Given the description of an element on the screen output the (x, y) to click on. 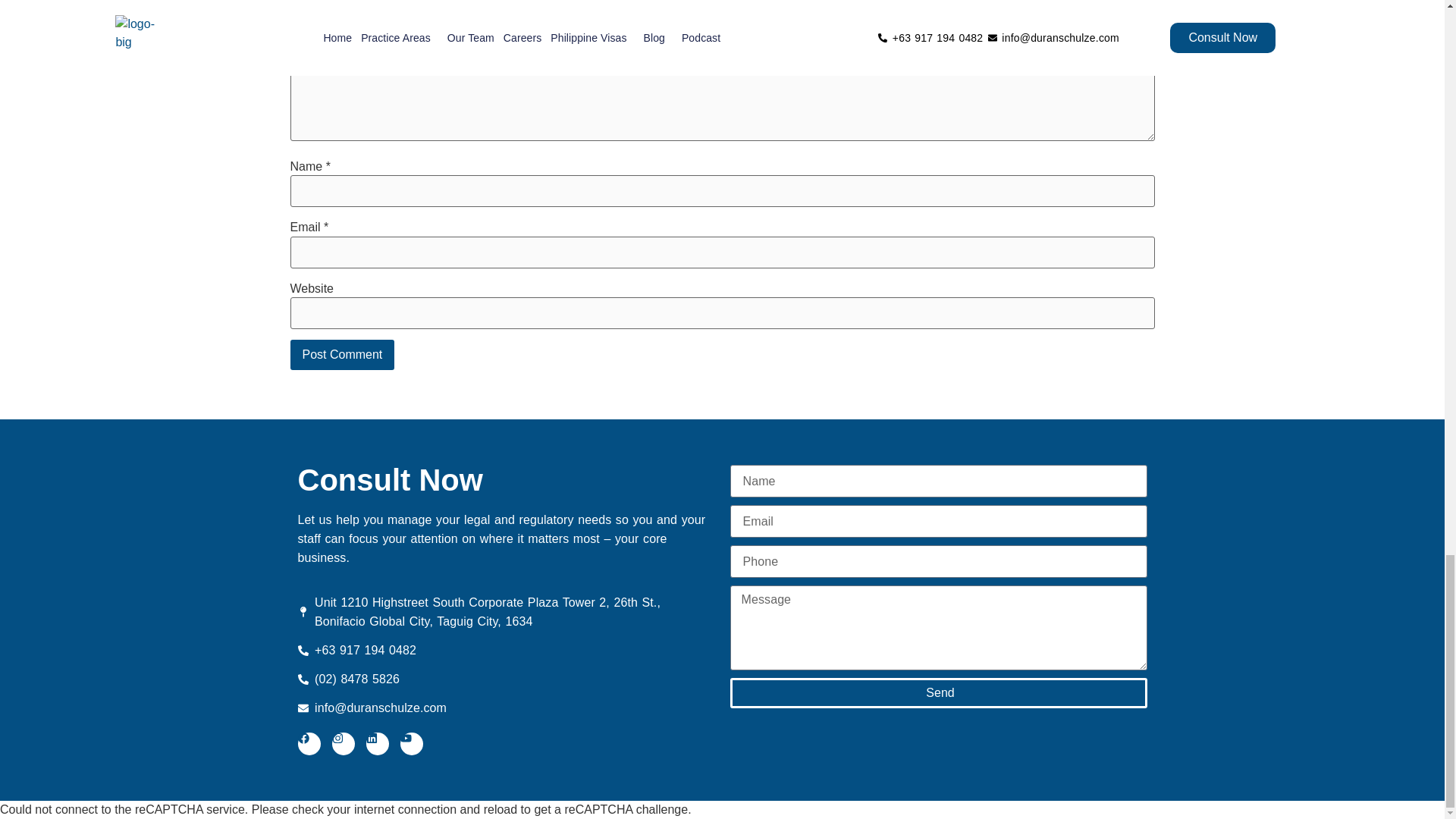
Post Comment (341, 354)
